Given the description of an element on the screen output the (x, y) to click on. 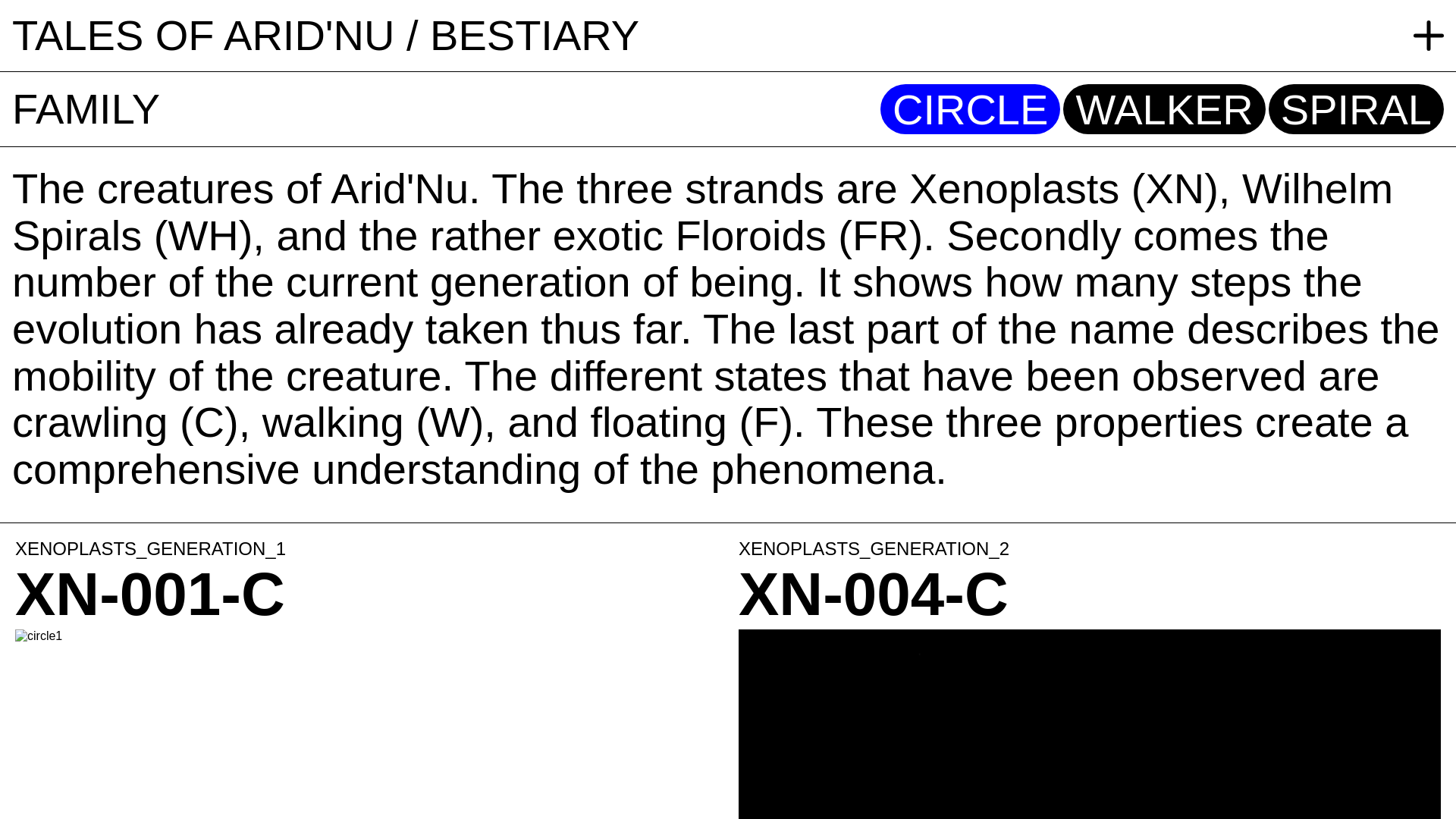
SPIRAL Element type: text (1355, 109)
CIRCLE Element type: text (970, 109)
WALKER Element type: text (1163, 109)
